Given the description of an element on the screen output the (x, y) to click on. 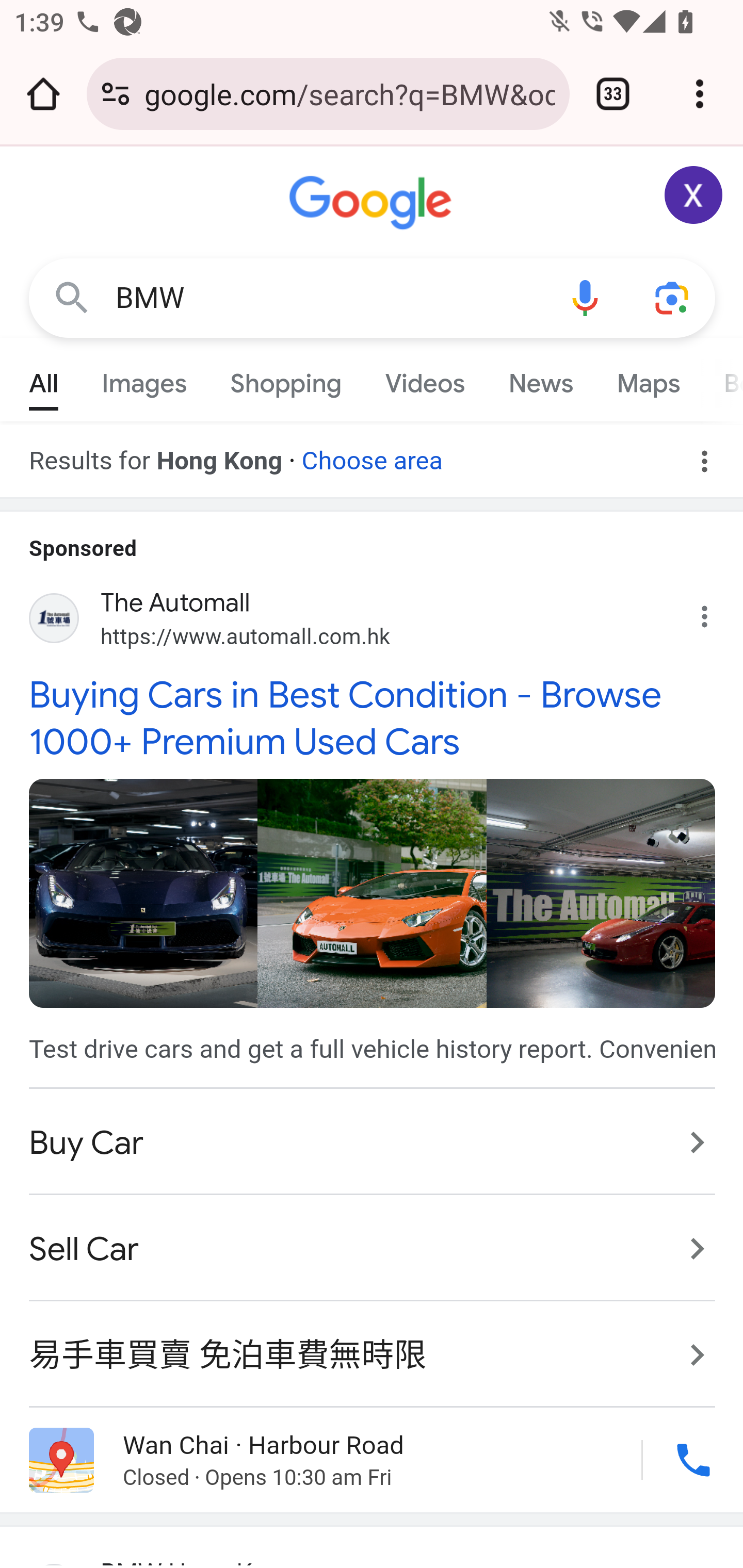
Open the home page (43, 93)
Connection is secure (115, 93)
Switch or close tabs (612, 93)
Customize and control Google Chrome (699, 93)
Google (372, 203)
Google Account: Xiaoran (zxrappiumtest@gmail.com) (694, 195)
Google Search (71, 296)
Search using your camera or photos (672, 296)
BMW (328, 297)
Images (144, 378)
Shopping (285, 378)
Videos (424, 378)
News (540, 378)
Maps (647, 378)
Choose area (371, 453)
Why this ad? (714, 611)
Image from automall.com.hk (141, 892)
Image from automall.com.hk (371, 892)
Image from automall.com.hk (600, 892)
Buy Car (372, 1142)
Sell Car (372, 1248)
易手車買賣 免泊車費無時限 (372, 1344)
